Given the description of an element on the screen output the (x, y) to click on. 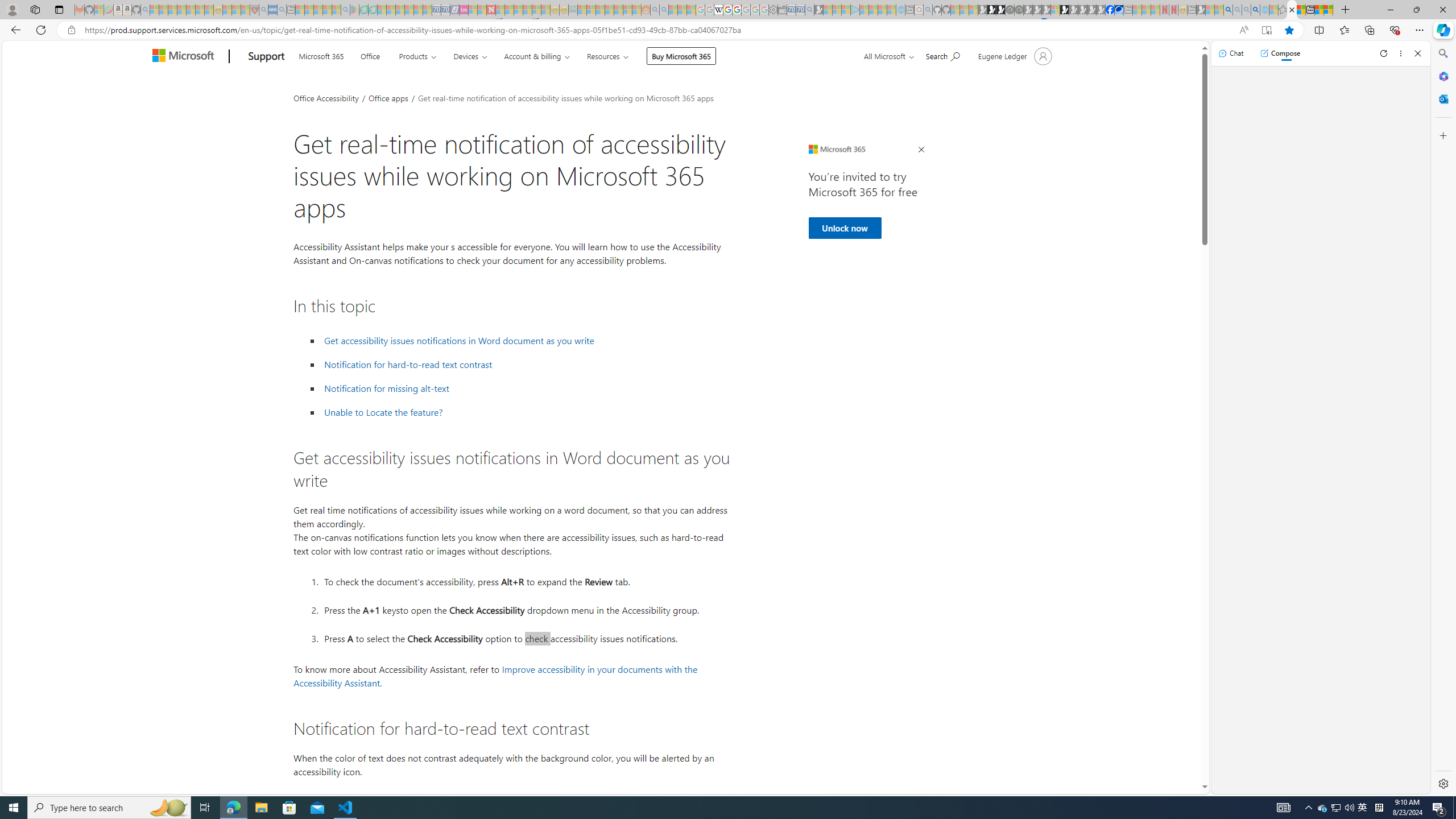
Chat (1230, 52)
Office apps  (389, 97)
